Given the description of an element on the screen output the (x, y) to click on. 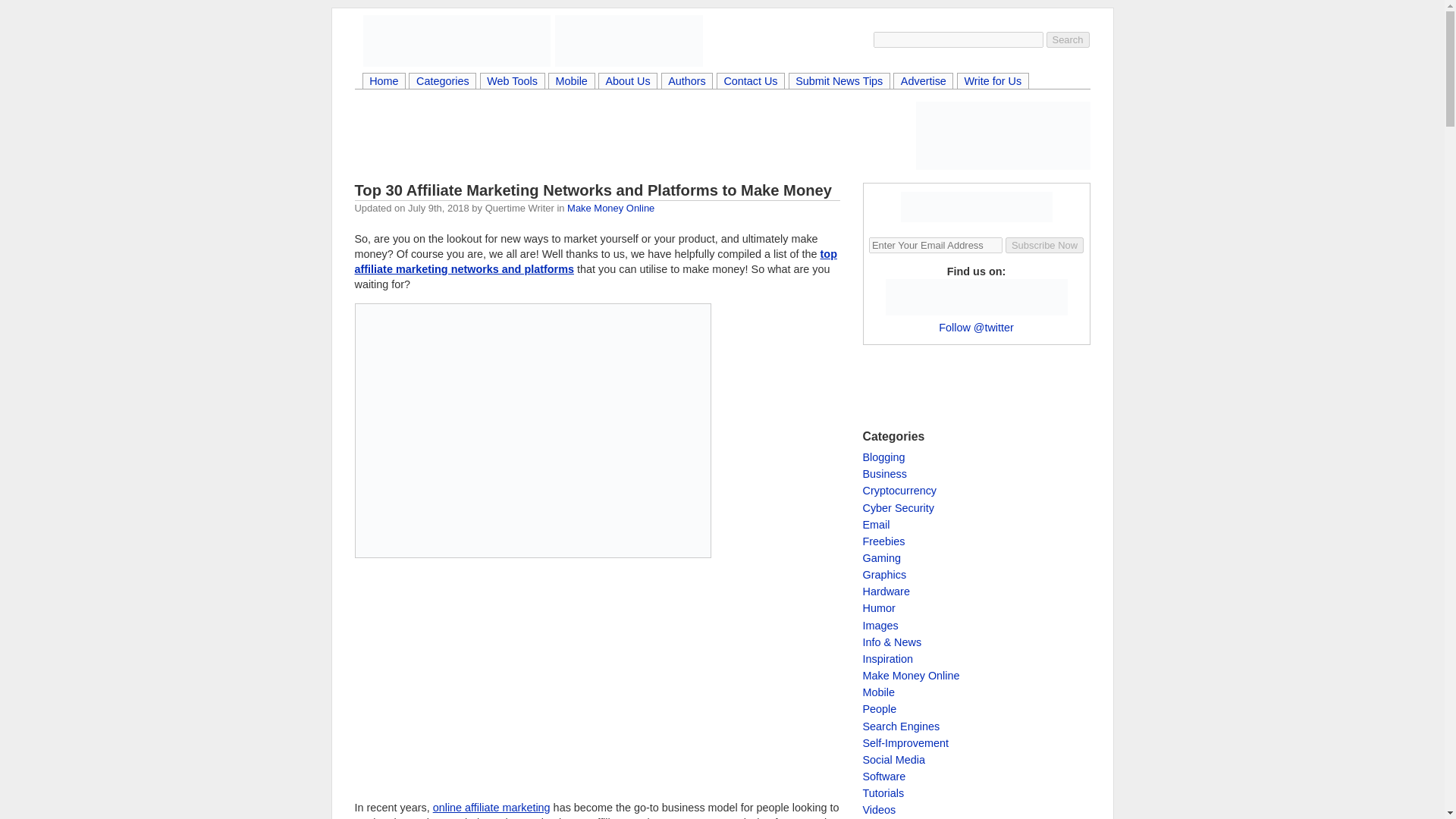
Make Money Online (610, 207)
Search (1067, 39)
Subscribe Now (1044, 245)
Web Tools (512, 82)
Become our fan on Facebook! (903, 297)
Mobile (571, 82)
Advertise (922, 82)
Write for Us (992, 82)
Contact Us (750, 82)
Submit News Tips (838, 82)
About Us (627, 82)
top affiliate marketing networks and platforms (596, 261)
Categories (442, 82)
Home (383, 82)
Quertime: Evolving you from ape to geek (628, 40)
